Given the description of an element on the screen output the (x, y) to click on. 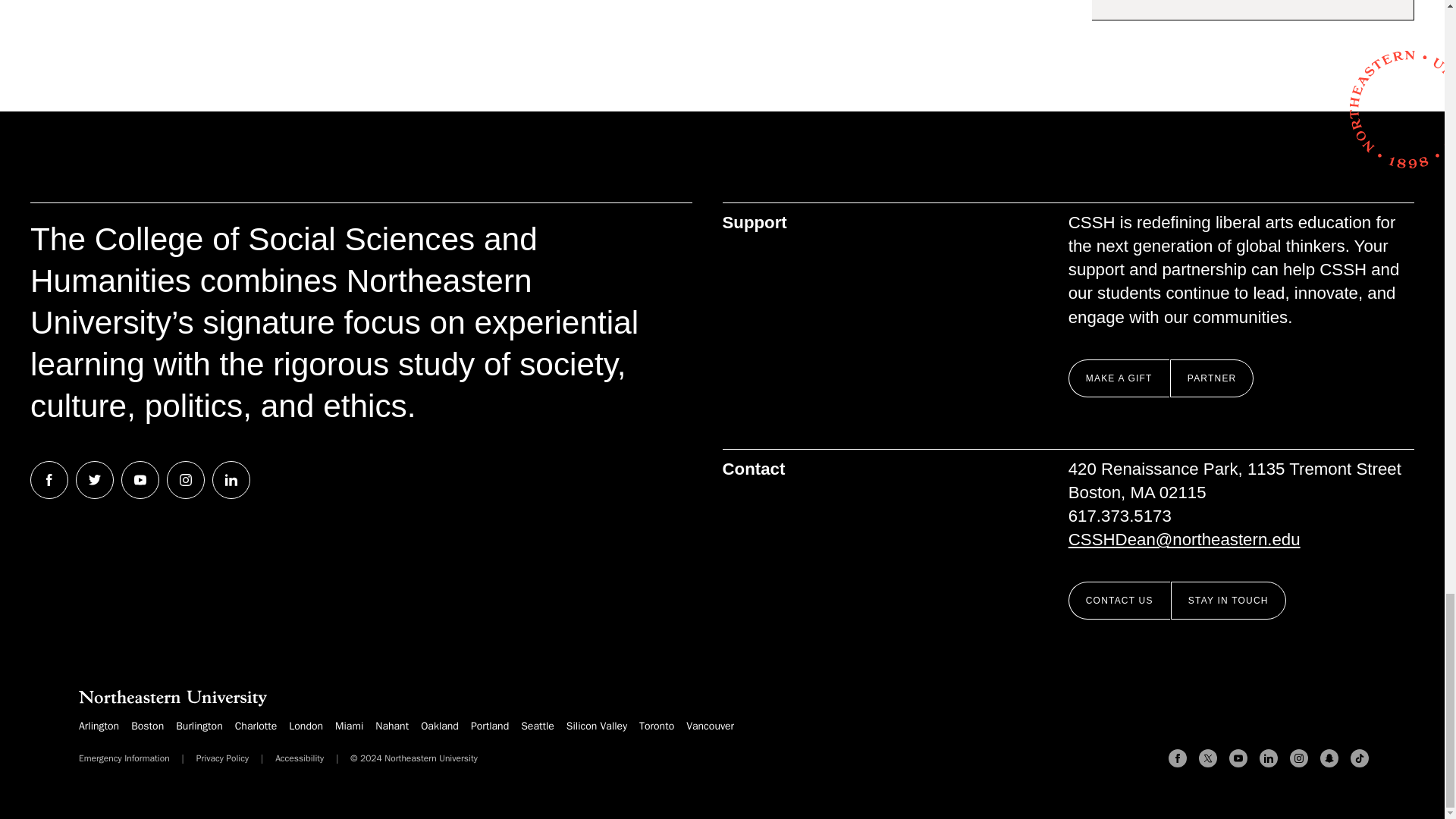
Instagram (1298, 758)
TikTok (1359, 758)
Linkedin (1268, 758)
YouTube (1237, 758)
Snapchat (1329, 758)
Facebook (1177, 758)
